Given the description of an element on the screen output the (x, y) to click on. 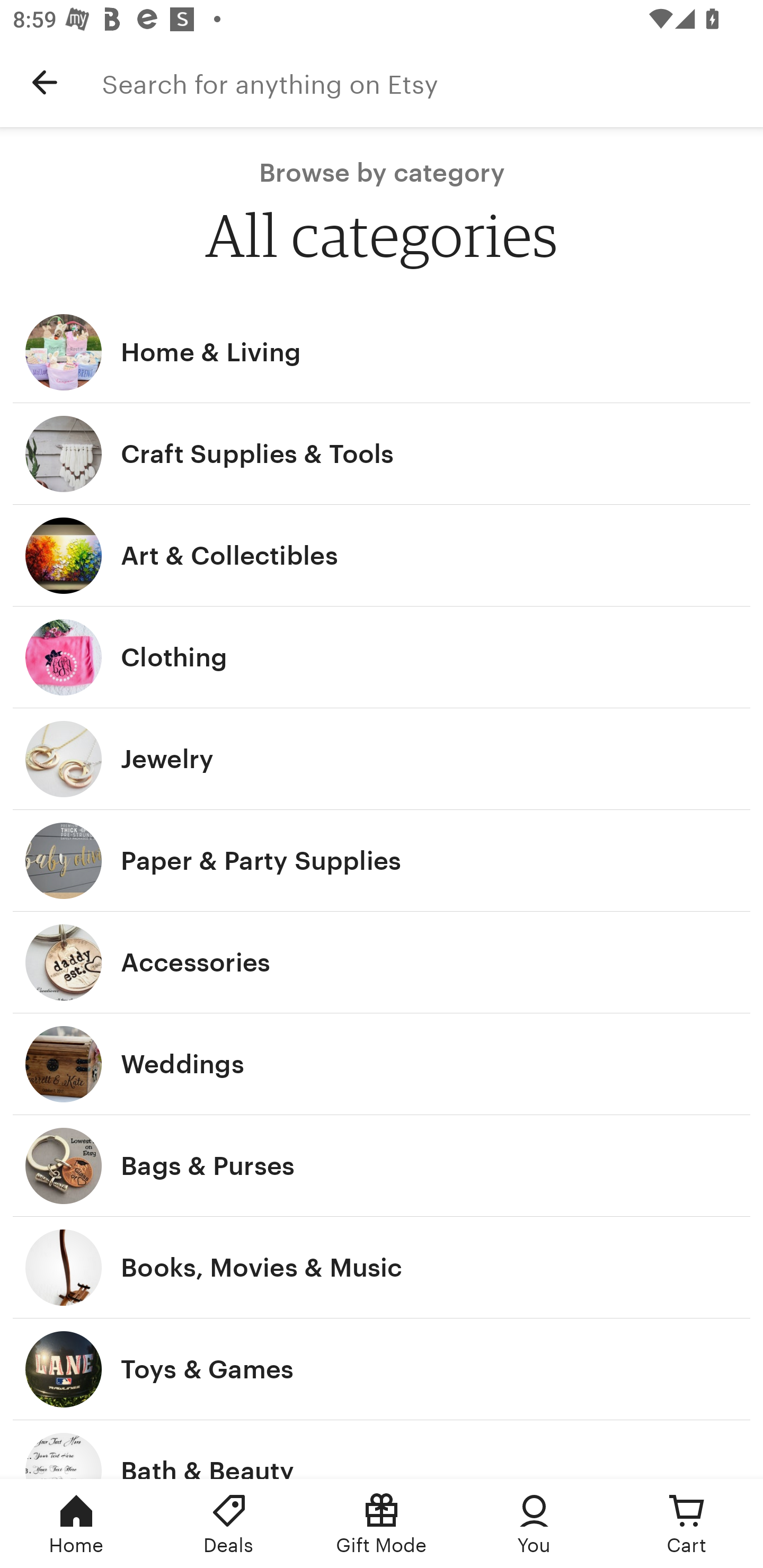
Navigate up (44, 82)
Search for anything on Etsy (432, 82)
Home & Living (381, 351)
Craft Supplies & Tools (381, 453)
Art & Collectibles (381, 555)
Clothing (381, 657)
Jewelry (381, 759)
Paper & Party Supplies (381, 860)
Accessories (381, 961)
Weddings (381, 1063)
Bags & Purses (381, 1165)
Books, Movies & Music (381, 1267)
Toys & Games (381, 1369)
Bath & Beauty (381, 1449)
Deals (228, 1523)
Gift Mode (381, 1523)
You (533, 1523)
Cart (686, 1523)
